Given the description of an element on the screen output the (x, y) to click on. 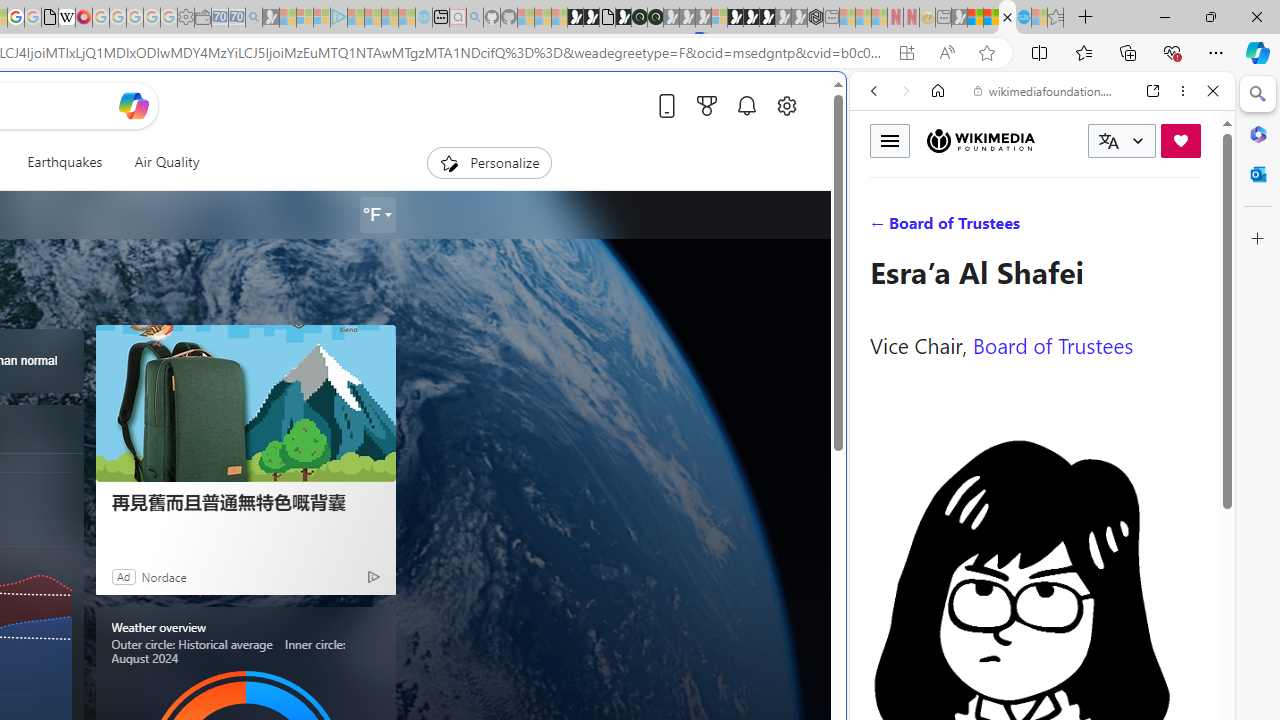
Tabs you've opened (276, 265)
Future Focus Report 2024 (655, 17)
App available. Install Microsoft Start Weather (906, 53)
